Given the description of an element on the screen output the (x, y) to click on. 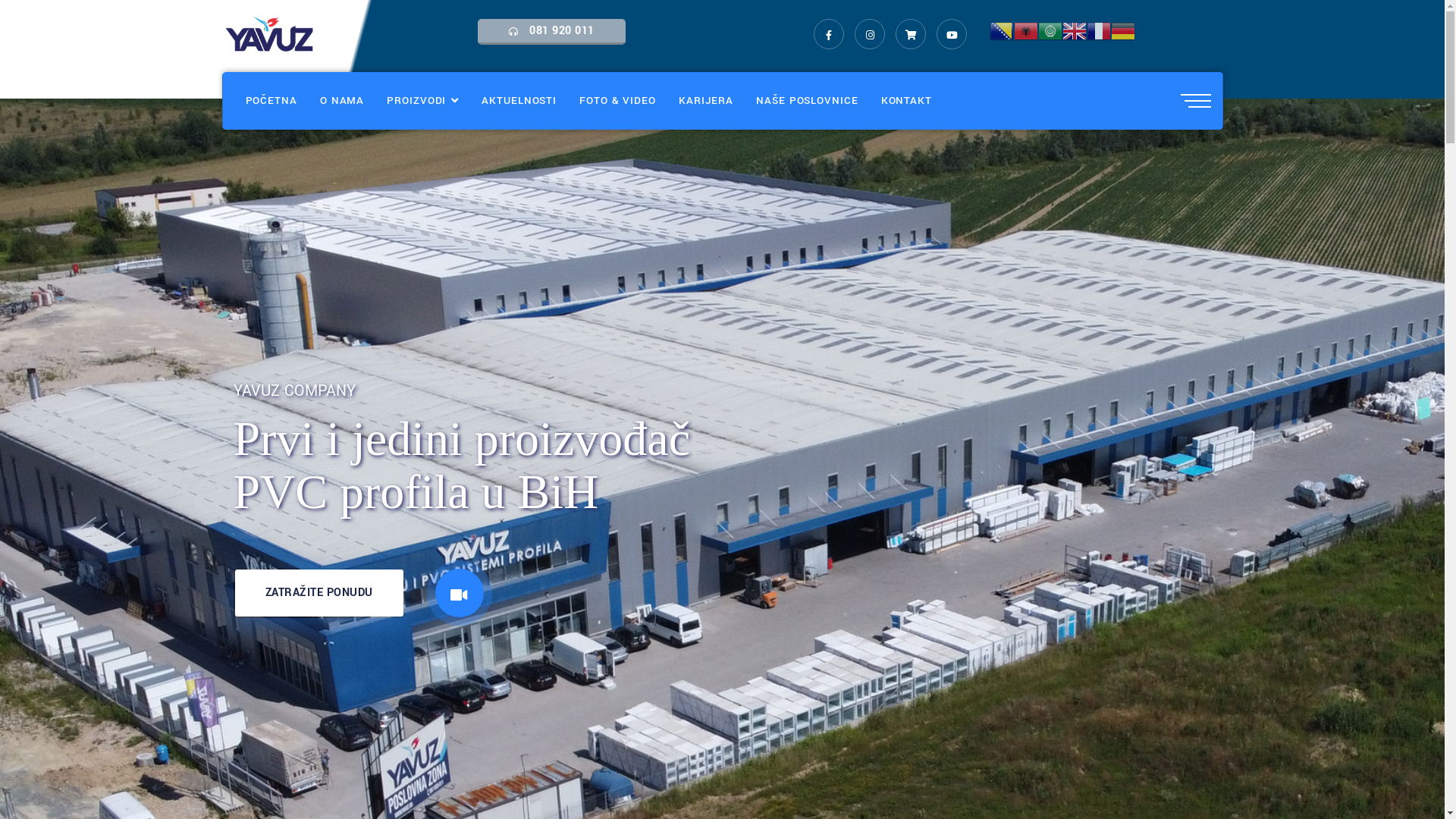
KARIJERA Element type: text (705, 100)
AKTUELNOSTI Element type: text (518, 100)
FOTO & VIDEO Element type: text (617, 100)
PROIZVODI Element type: text (422, 100)
French Element type: hover (1098, 30)
English Element type: hover (1074, 30)
081 920 011 Element type: text (551, 31)
OLX Shop Element type: hover (910, 33)
Albanian Element type: hover (1025, 30)
Youtube Element type: hover (951, 33)
O NAMA Element type: text (341, 100)
KONTAKT Element type: text (906, 100)
German Element type: hover (1122, 30)
Arabic Element type: hover (1050, 30)
Bosnian Element type: hover (1001, 30)
Menu Element type: hover (1201, 100)
